Given the description of an element on the screen output the (x, y) to click on. 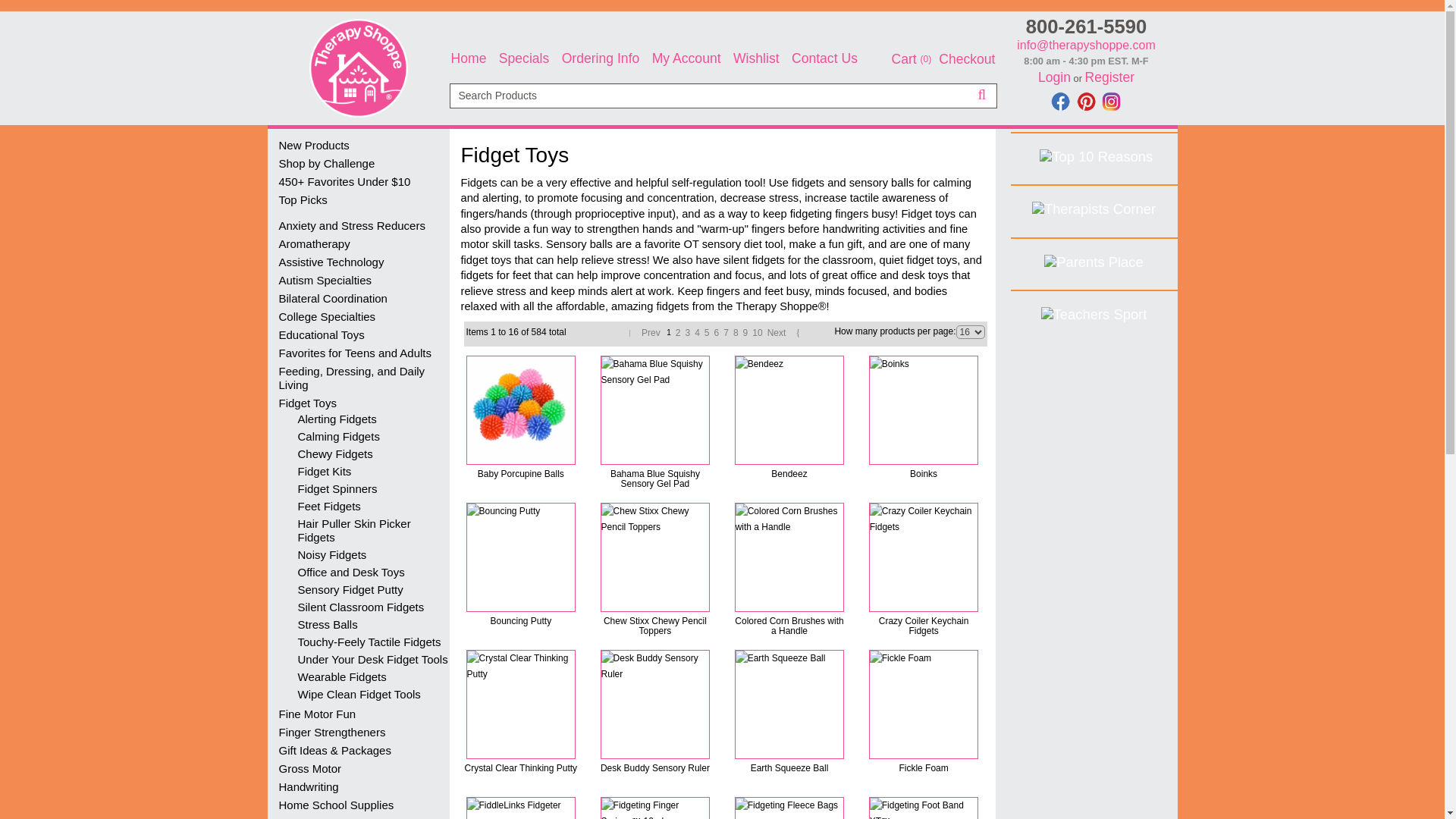
Search Products (721, 95)
Search Products (722, 145)
